Given the description of an element on the screen output the (x, y) to click on. 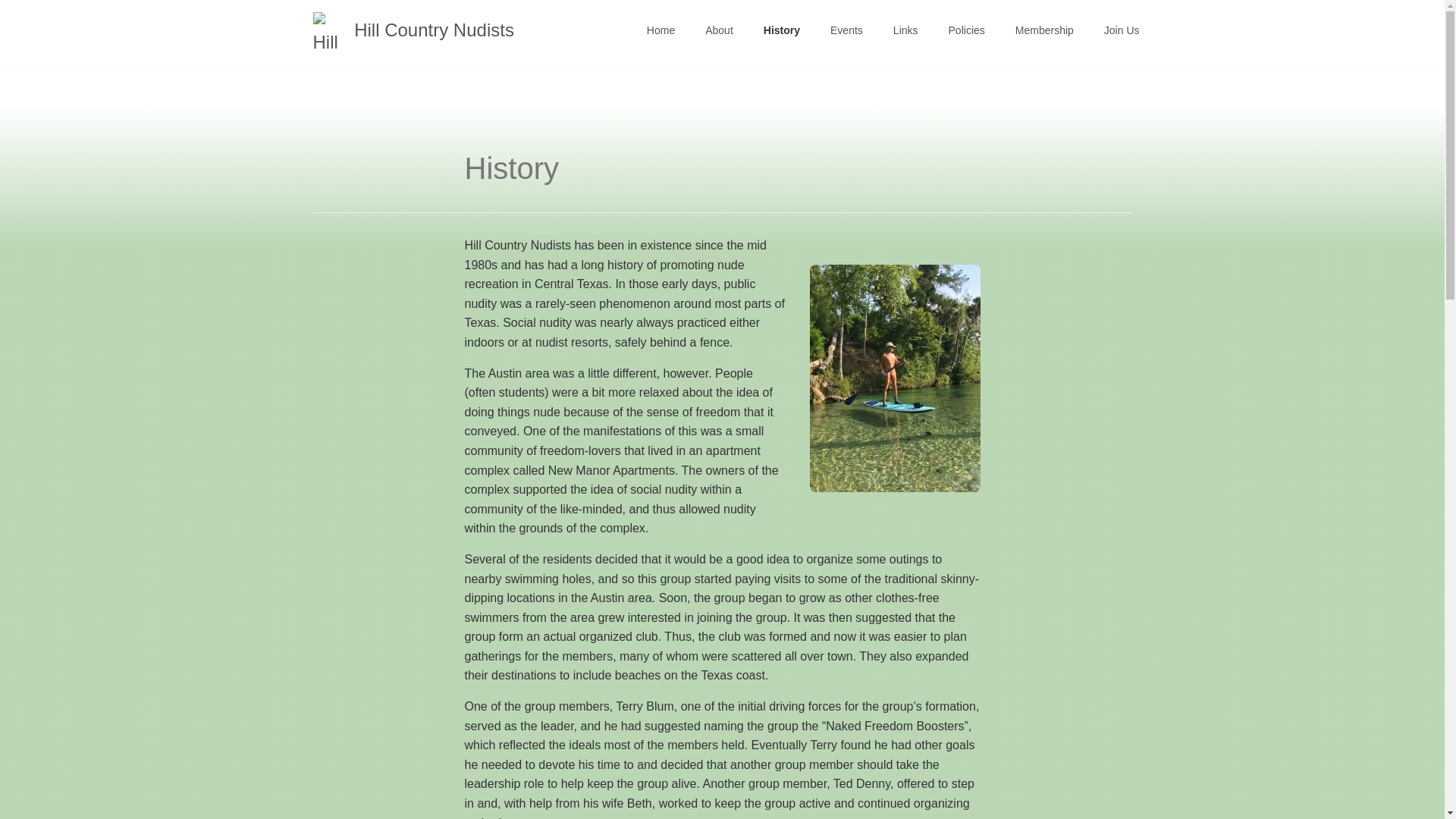
Policies (966, 30)
Events (846, 30)
History (781, 30)
Links (905, 30)
Our Front Page (660, 30)
Join Us (1121, 30)
Home (660, 30)
Hill Country Nudists (413, 30)
Membership (1044, 30)
About (719, 30)
